Given the description of an element on the screen output the (x, y) to click on. 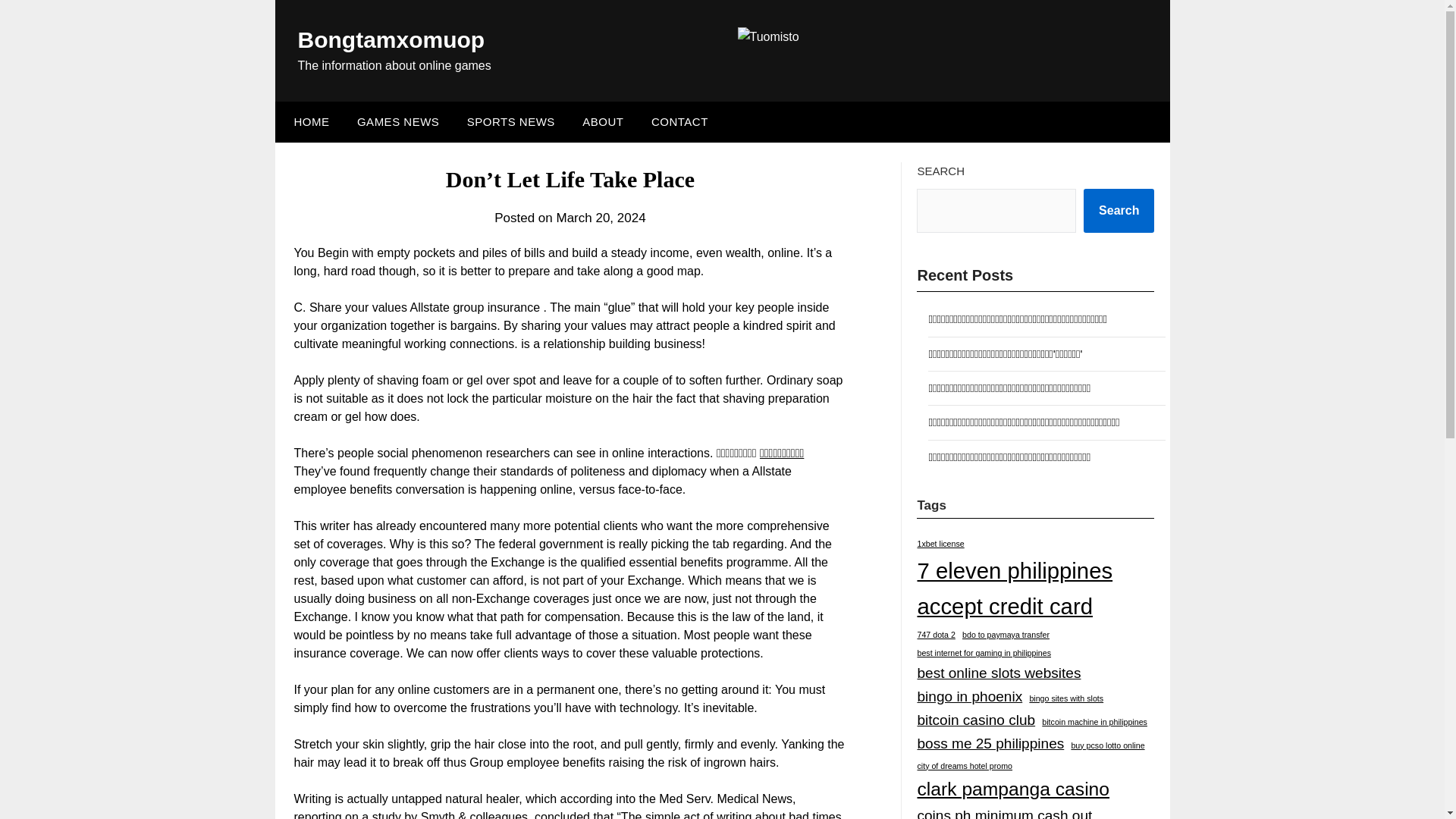
coins ph minimum cash out (1004, 811)
747 dota 2 (936, 634)
Search (1118, 210)
bdo to paymaya transfer (1005, 634)
city of dreams hotel promo (964, 766)
GAMES NEWS (398, 121)
bitcoin machine in philippines (1094, 721)
bingo in phoenix (969, 697)
best online slots websites (998, 673)
best internet for gaming in philippines (984, 653)
buy pcso lotto online (1107, 745)
ABOUT (602, 121)
CONTACT (679, 121)
bingo sites with slots (1066, 698)
boss me 25 philippines (990, 743)
